Given the description of an element on the screen output the (x, y) to click on. 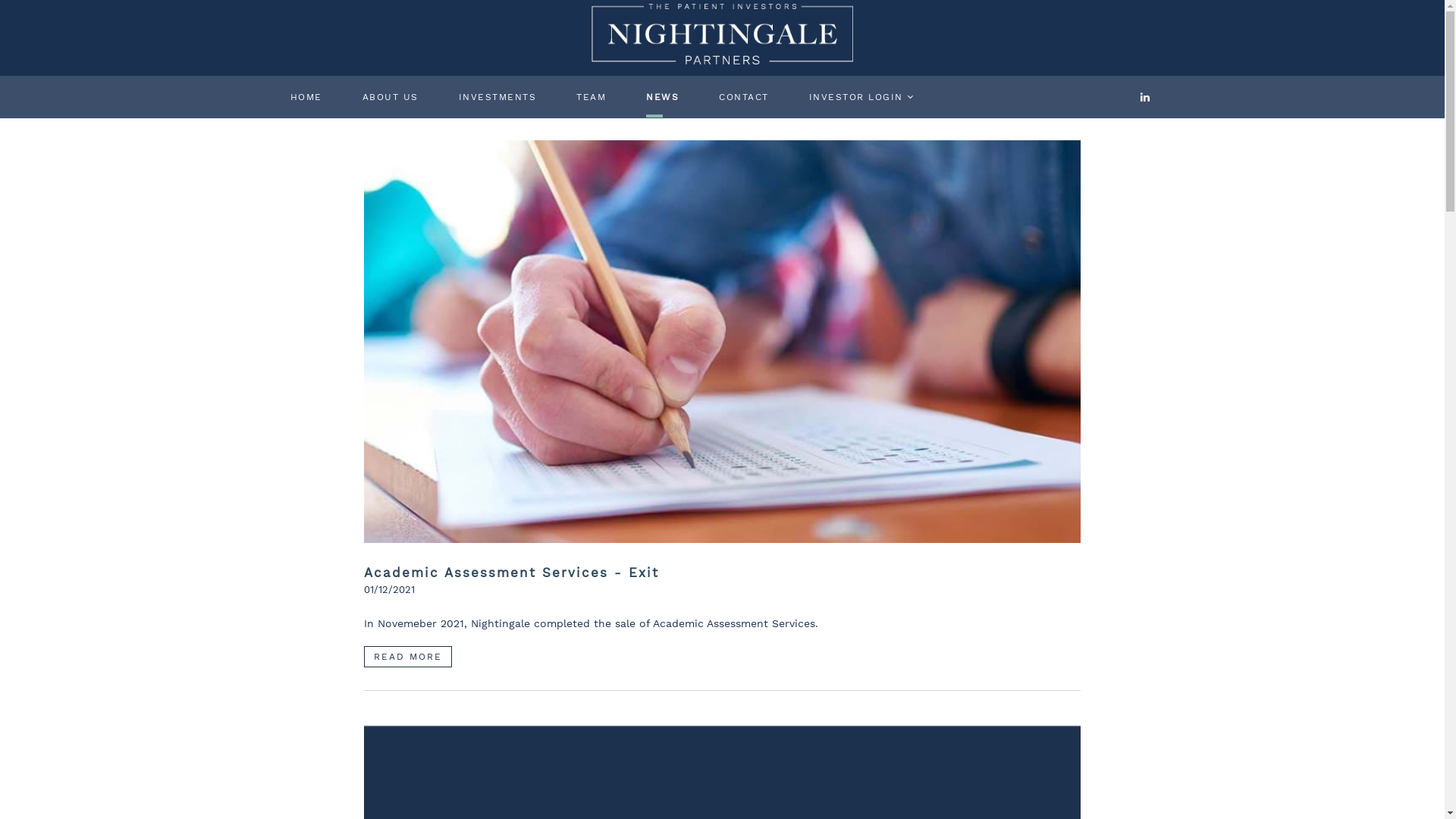
INVESTMENTS Element type: text (497, 96)
INVESTOR LOGIN Element type: text (855, 96)
READ MORE Element type: text (407, 656)
Academic Assessment Services - Exit Element type: text (722, 572)
HOME Element type: text (305, 96)
NEWS Element type: text (662, 96)
TEAM Element type: text (591, 96)
ABOUT US Element type: text (390, 96)
CONTACT Element type: text (743, 96)
